Given the description of an element on the screen output the (x, y) to click on. 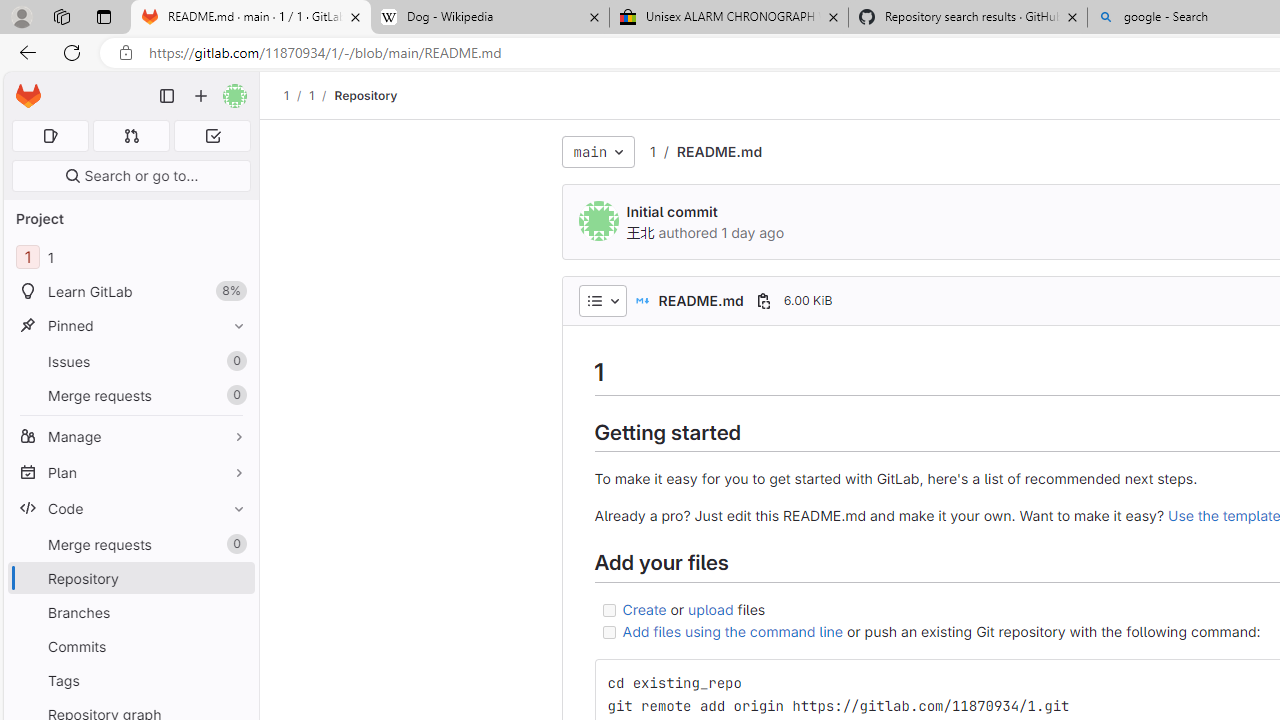
Repository (366, 95)
Merge requests0 (130, 543)
upload (710, 608)
1/ (321, 95)
Commits (130, 646)
AutomationID: dropdown-toggle-btn-52 (602, 300)
Create new... (201, 96)
main (598, 151)
Class: task-list-item-checkbox (608, 632)
Learn GitLab8% (130, 291)
Pinned (130, 325)
Repository (366, 95)
Tags (130, 679)
Merge requests 0 (130, 543)
